Given the description of an element on the screen output the (x, y) to click on. 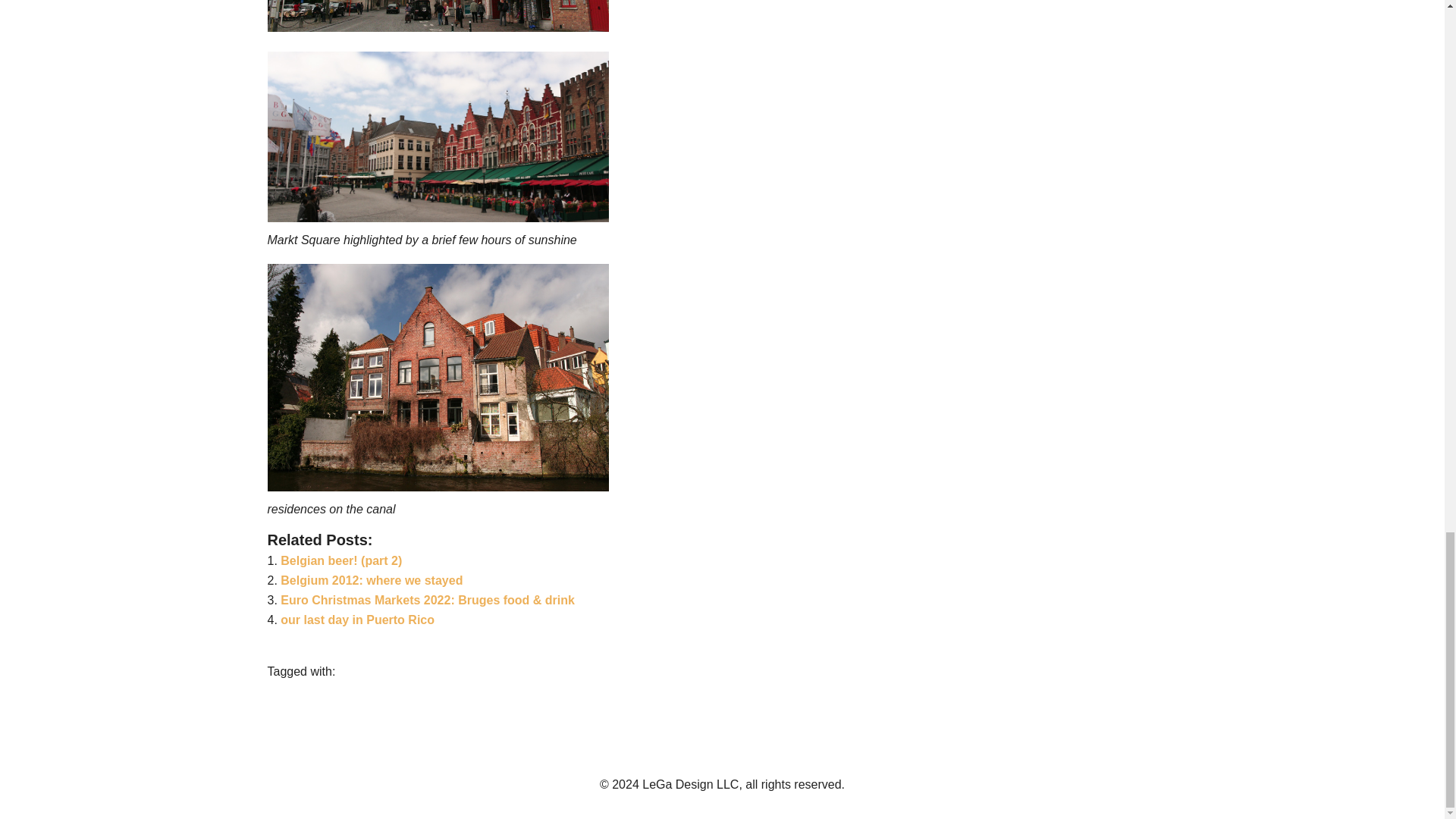
Belgium 2012: where we stayed (372, 580)
Belgium 2012: where we stayed (372, 580)
our last day in Puerto Rico (357, 619)
our last day in Puerto Rico (357, 619)
